Given the description of an element on the screen output the (x, y) to click on. 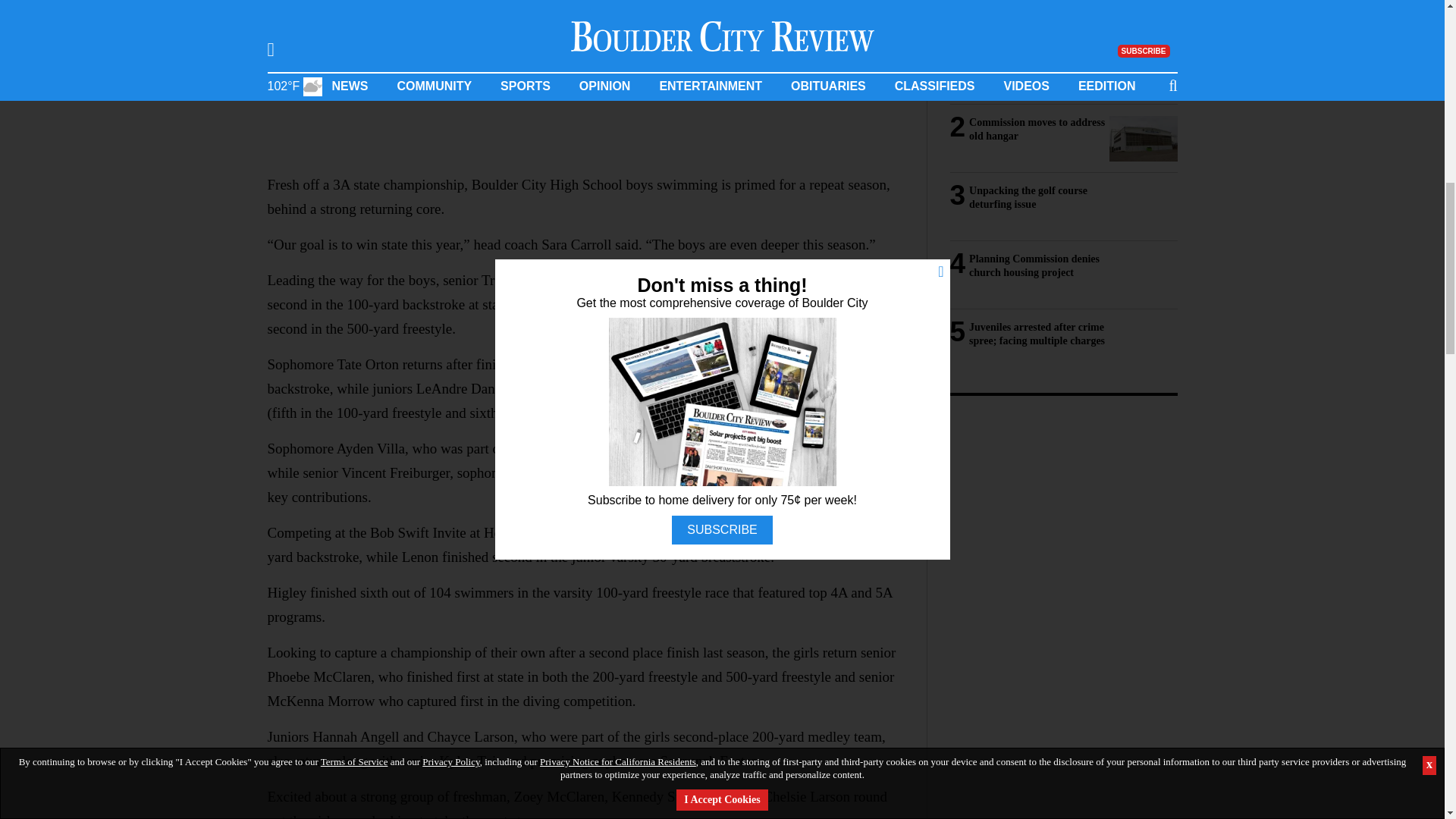
facebook like (555, 85)
